Given the description of an element on the screen output the (x, y) to click on. 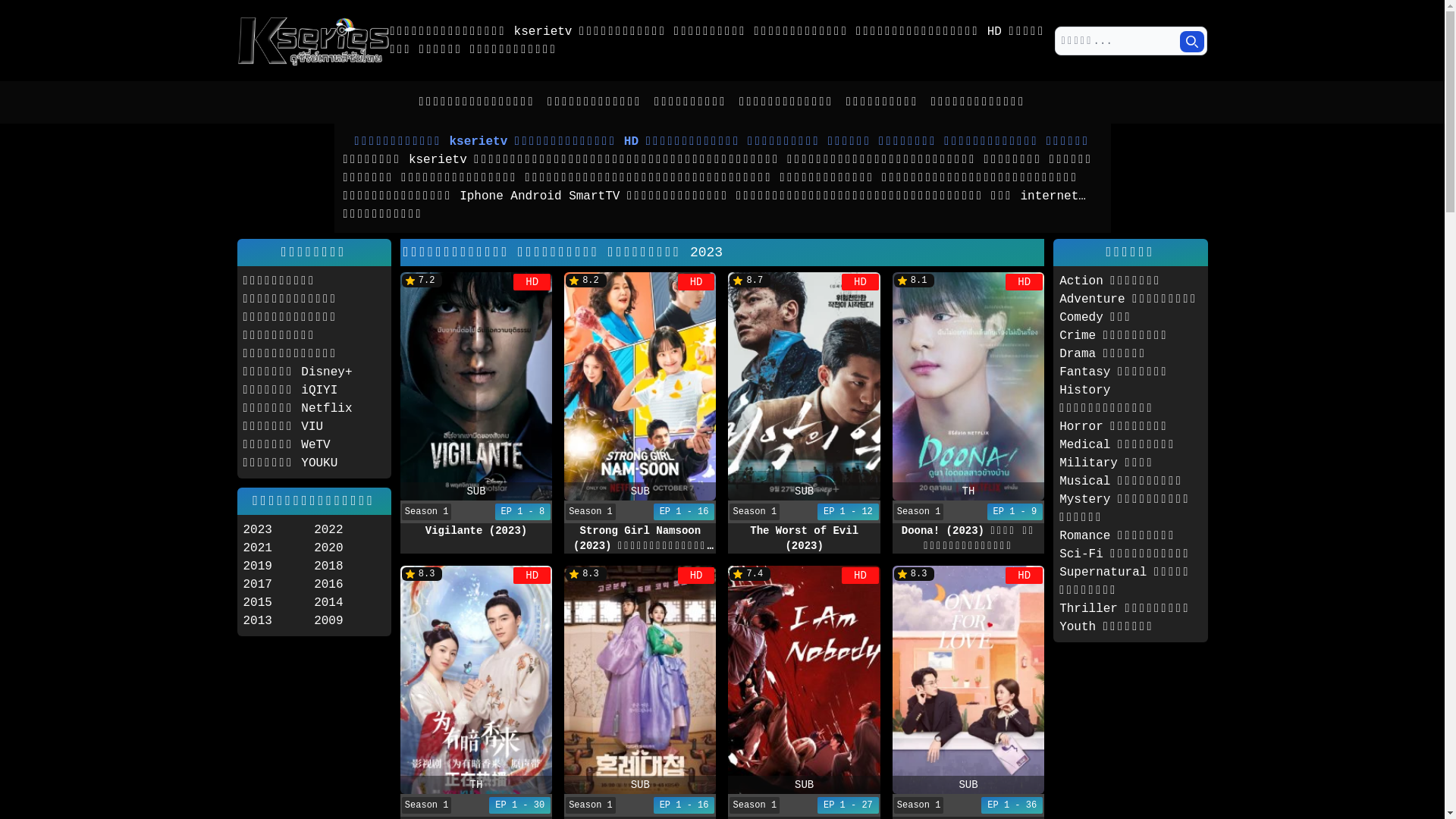
2021 Element type: text (277, 548)
2023 Element type: text (277, 529)
2015 Element type: text (277, 602)
2016 Element type: text (349, 584)
2022 Element type: text (349, 529)
Vigilante (2023) Element type: text (476, 530)
2018 Element type: text (349, 566)
2020 Element type: text (349, 548)
The Worst of Evil (2023) Element type: text (803, 538)
2017 Element type: text (277, 584)
2014 Element type: text (349, 602)
The Matchmakers (2023) Element type: hover (639, 679)
2019 Element type: text (277, 566)
2013 Element type: text (277, 620)
The Worst of Evil (2023) Element type: hover (803, 386)
2009 Element type: text (349, 620)
Vigilante (2023) Element type: hover (476, 386)
